Given the description of an element on the screen output the (x, y) to click on. 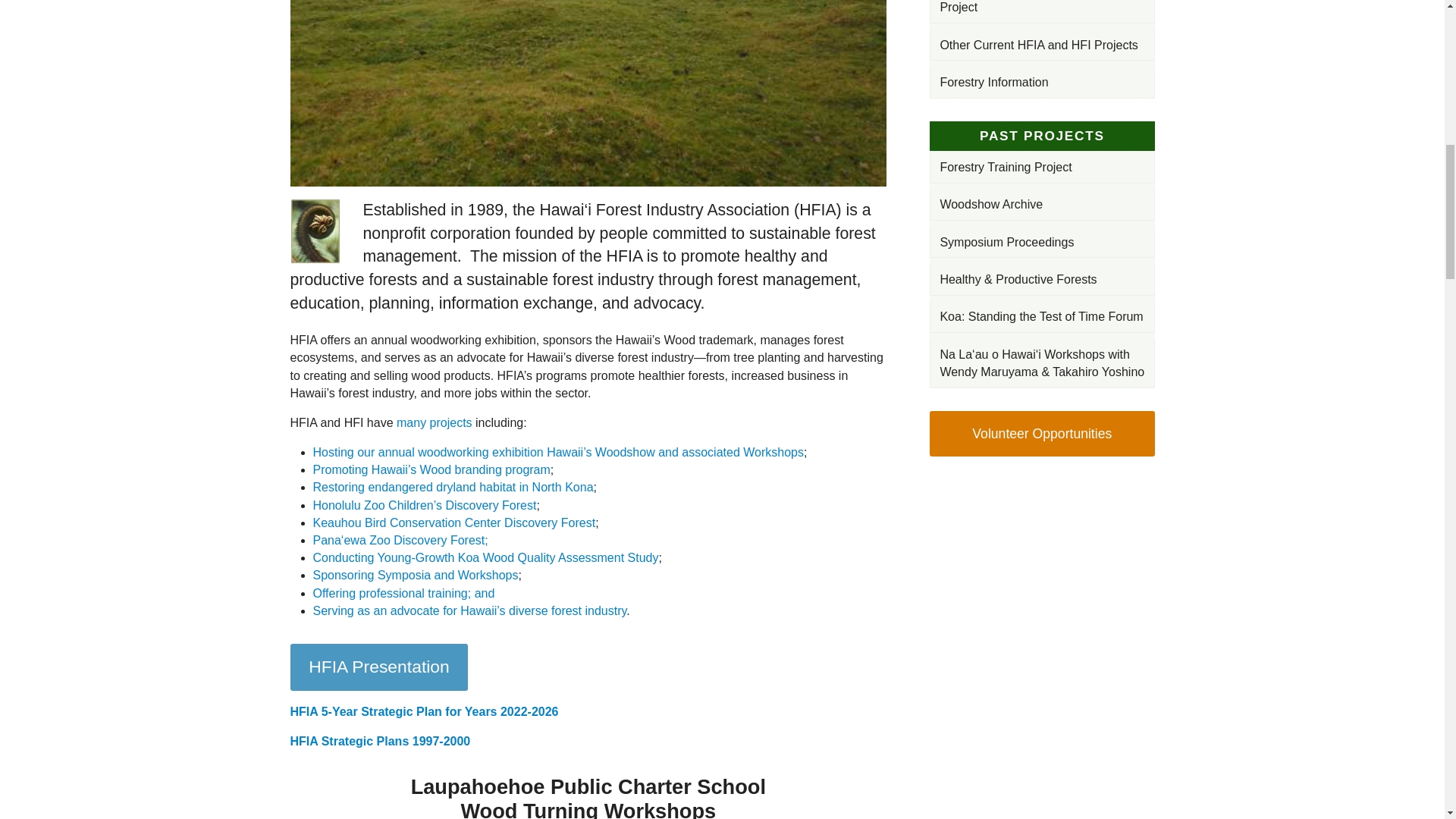
Sponsoring Symposia and Workshops (415, 574)
Offering professional training; and (404, 593)
many projects (433, 422)
Conducting Young-Growth Koa Wood Quality Assessment Study (485, 557)
Keauhou Bird Conservation Center Discovery Forest (454, 522)
Restoring endangered dryland habitat in North Kona (452, 486)
